Given the description of an element on the screen output the (x, y) to click on. 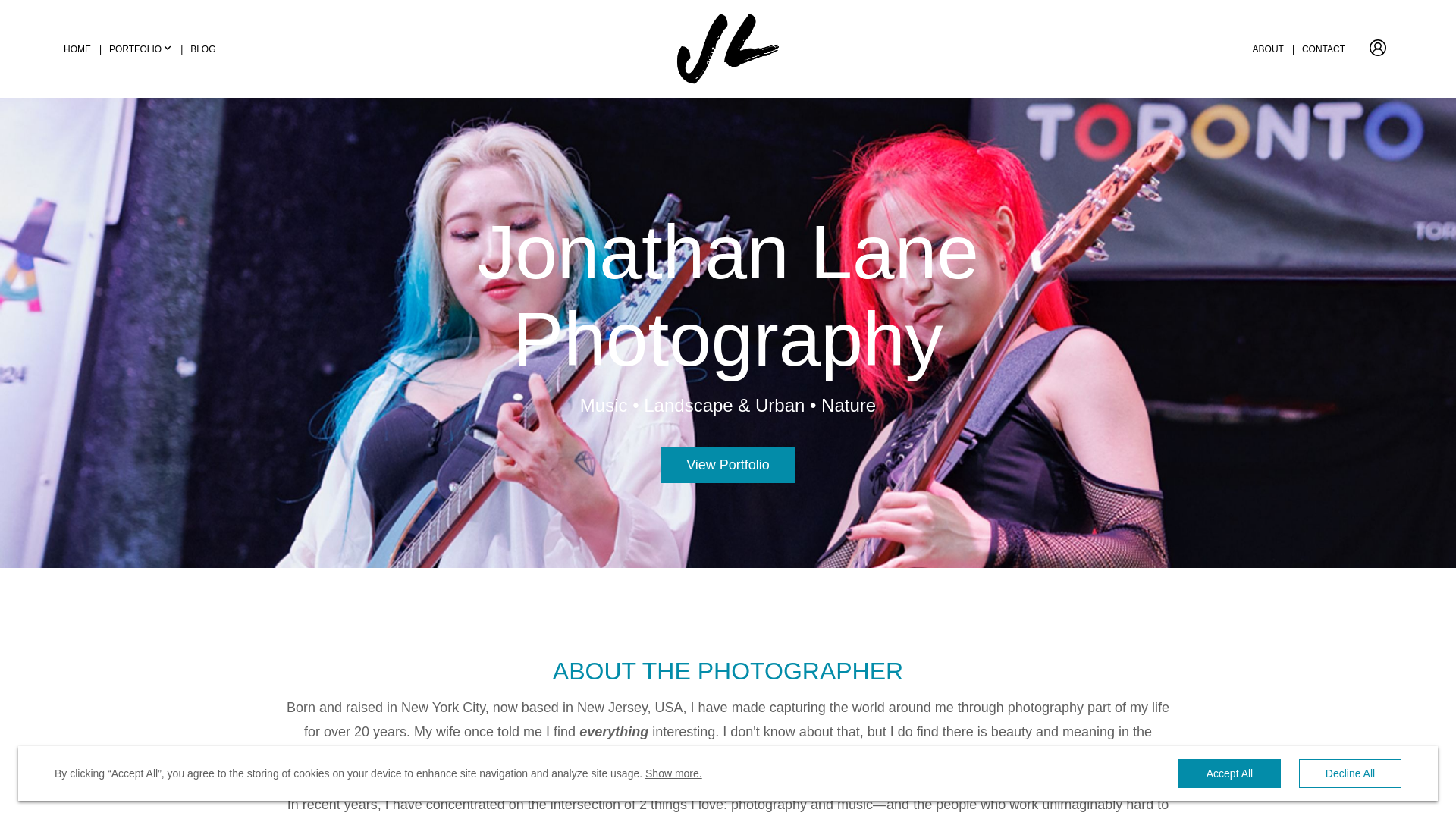
CONTACT (1323, 49)
View Portfolio (727, 464)
HOME (77, 49)
BLOG (202, 49)
ABOUT (1268, 49)
Accept All (1229, 773)
PORTFOLIO (140, 48)
Decline All (1349, 773)
